Given the description of an element on the screen output the (x, y) to click on. 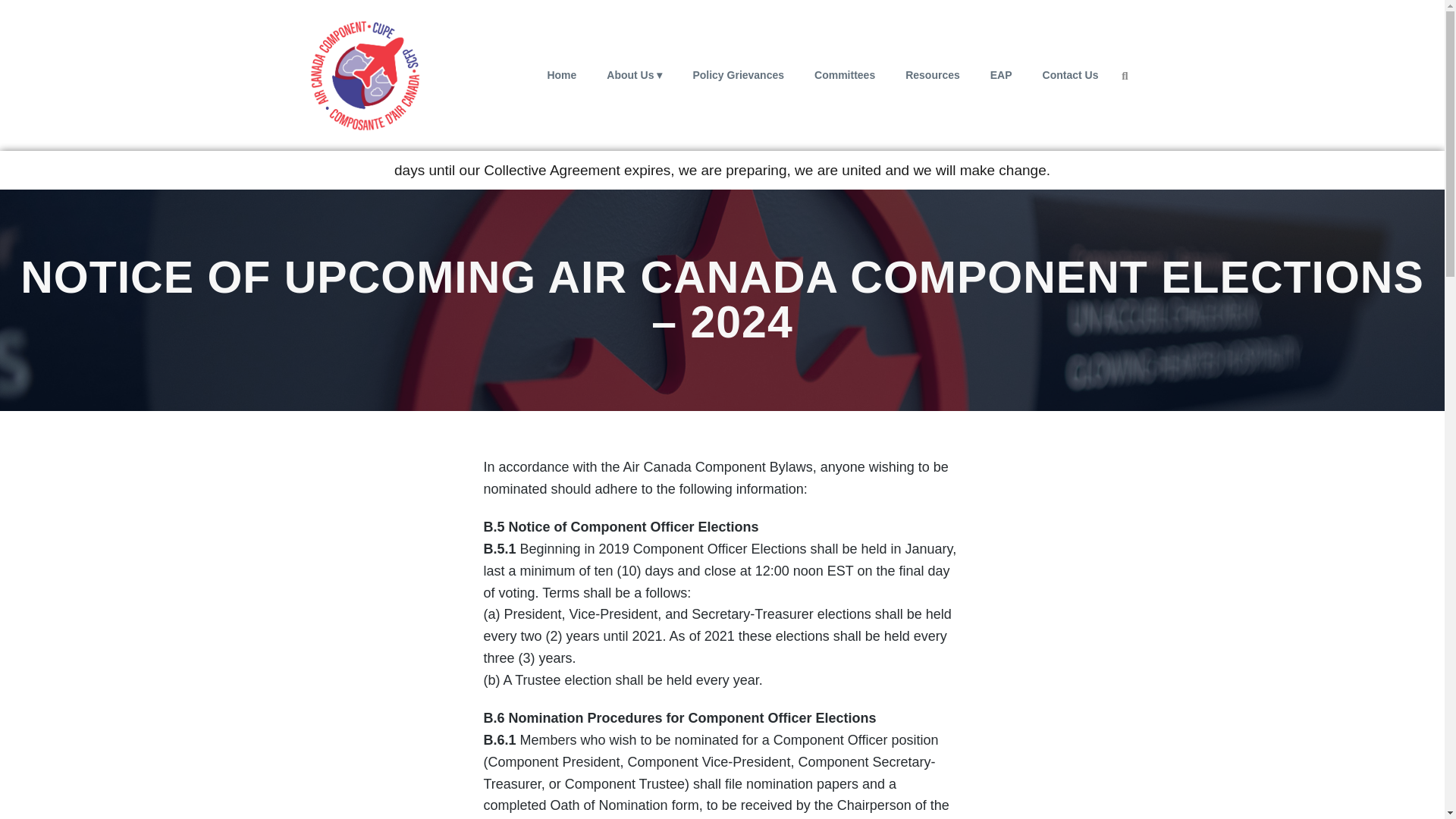
Contact Us (1070, 74)
Committees (844, 74)
Resources (932, 74)
EAP (1001, 74)
Home (561, 74)
Policy Grievances (738, 74)
